Given the description of an element on the screen output the (x, y) to click on. 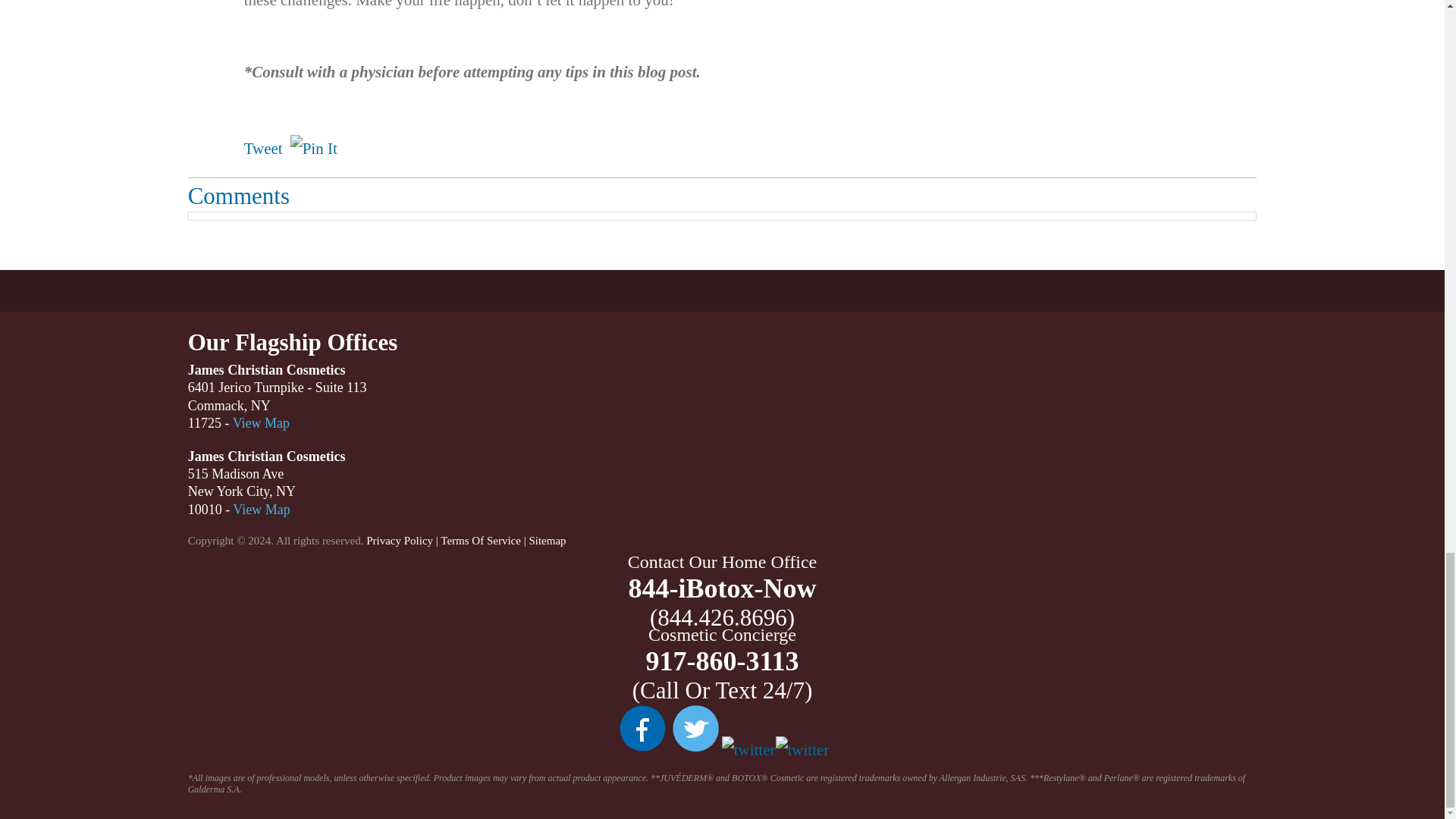
Sitemap (547, 540)
Tweet (263, 148)
Pin It (313, 149)
View Map (260, 422)
Privacy Policy (399, 540)
View Map (260, 509)
Comments (238, 195)
